Given the description of an element on the screen output the (x, y) to click on. 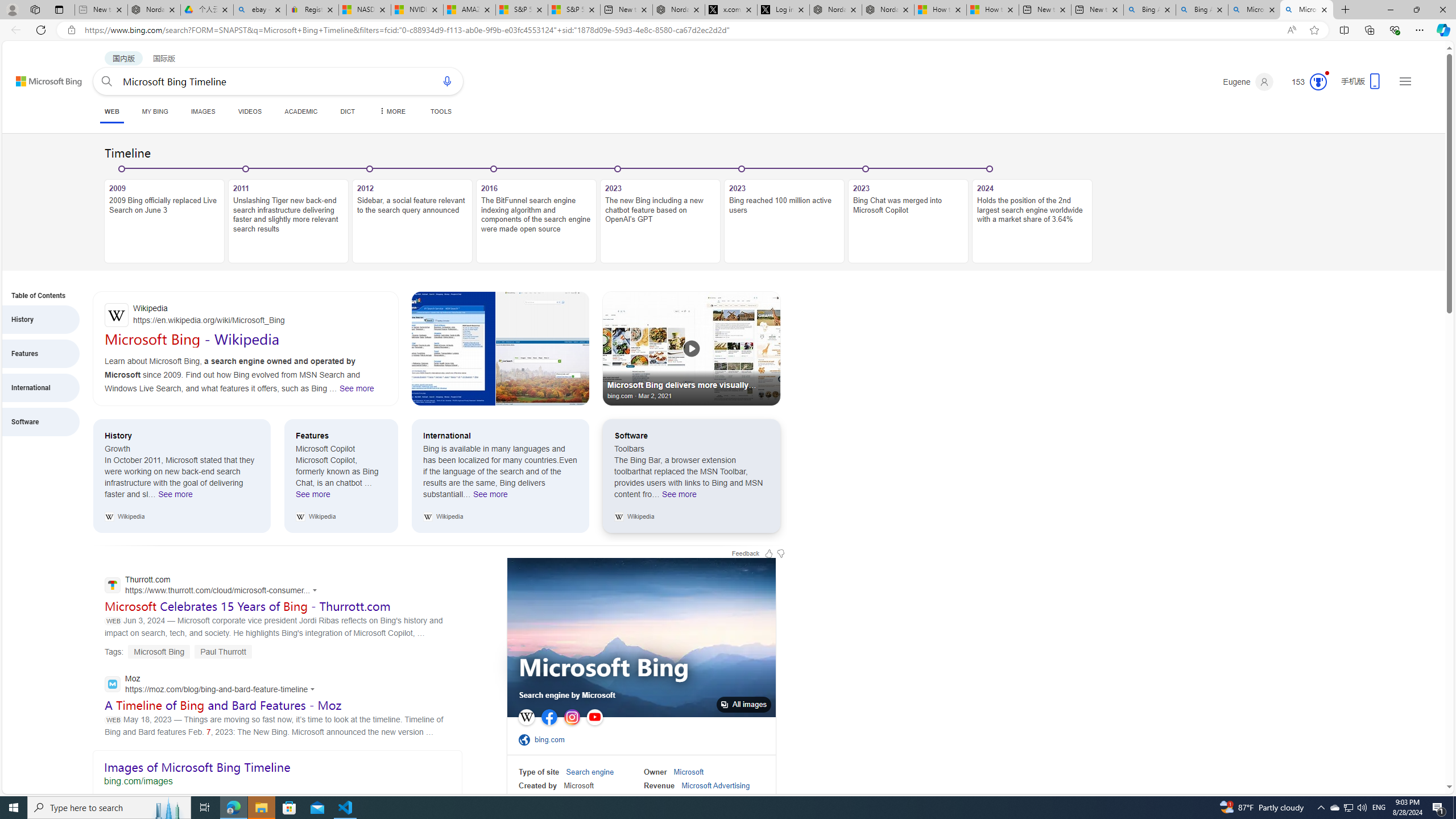
ACADEMIC (300, 111)
Class: medal-circled (1317, 81)
DICT (346, 111)
Search button (106, 80)
Microsoft Rewards 153 (1304, 81)
See more (542, 371)
Global web icon (111, 683)
MY BING (154, 111)
Images of Microsoft Bing Timeline (277, 771)
2023Bing Chat was merged into Microsoft Copilot (908, 214)
